Given the description of an element on the screen output the (x, y) to click on. 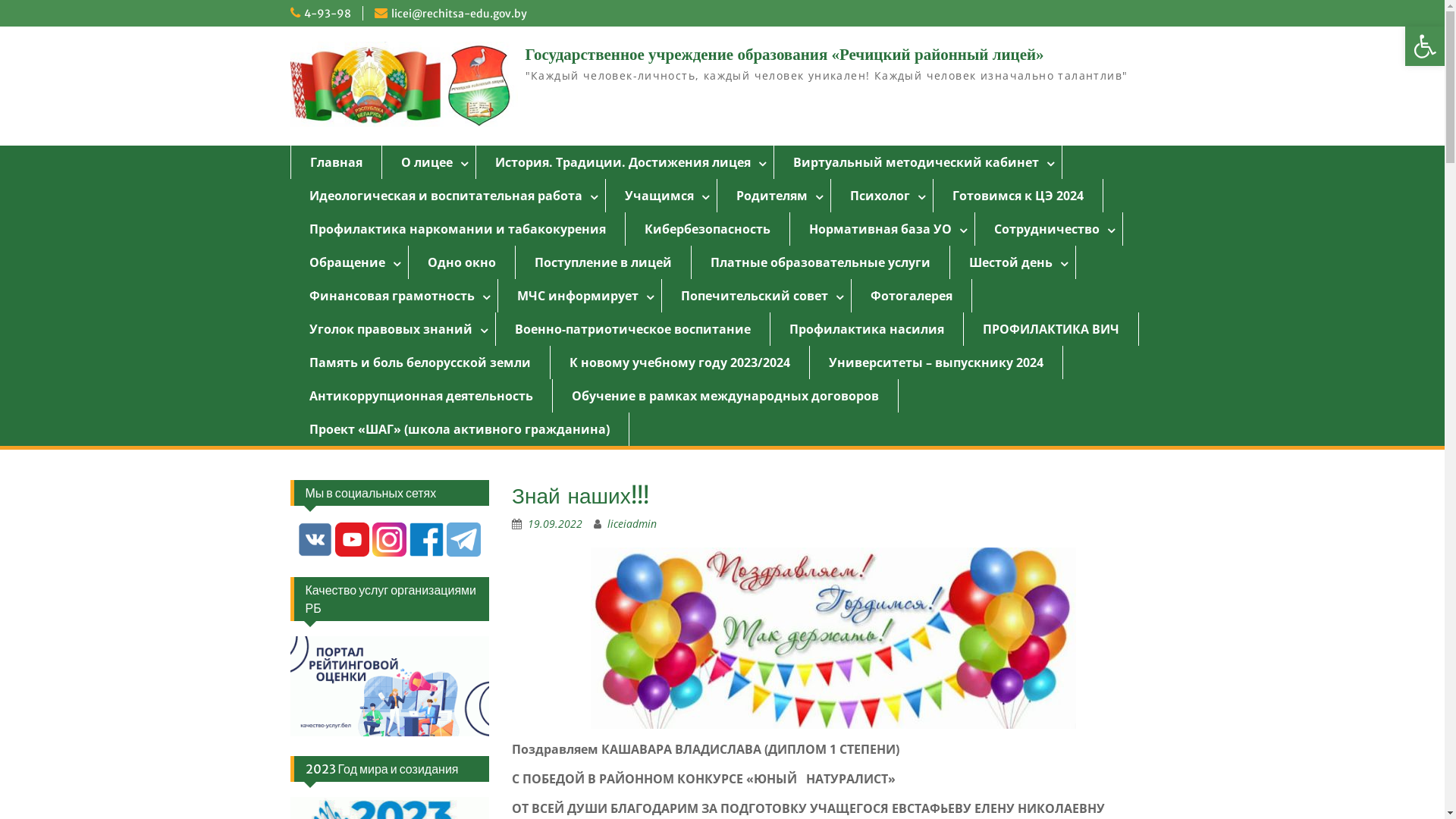
licei@rechitsa-edu.gov.by Element type: text (459, 13)
19.09.2022 Element type: text (554, 523)
Telegram Element type: hover (463, 553)
youtube Element type: hover (351, 553)
Facebook Element type: hover (426, 539)
instagram Element type: hover (389, 539)
liceiadmin Element type: text (631, 523)
Facebook Element type: hover (426, 553)
4-93-98 Element type: text (326, 13)
Telegram Element type: hover (463, 539)
youtube Element type: hover (352, 539)
instagram Element type: hover (388, 553)
